Given the description of an element on the screen output the (x, y) to click on. 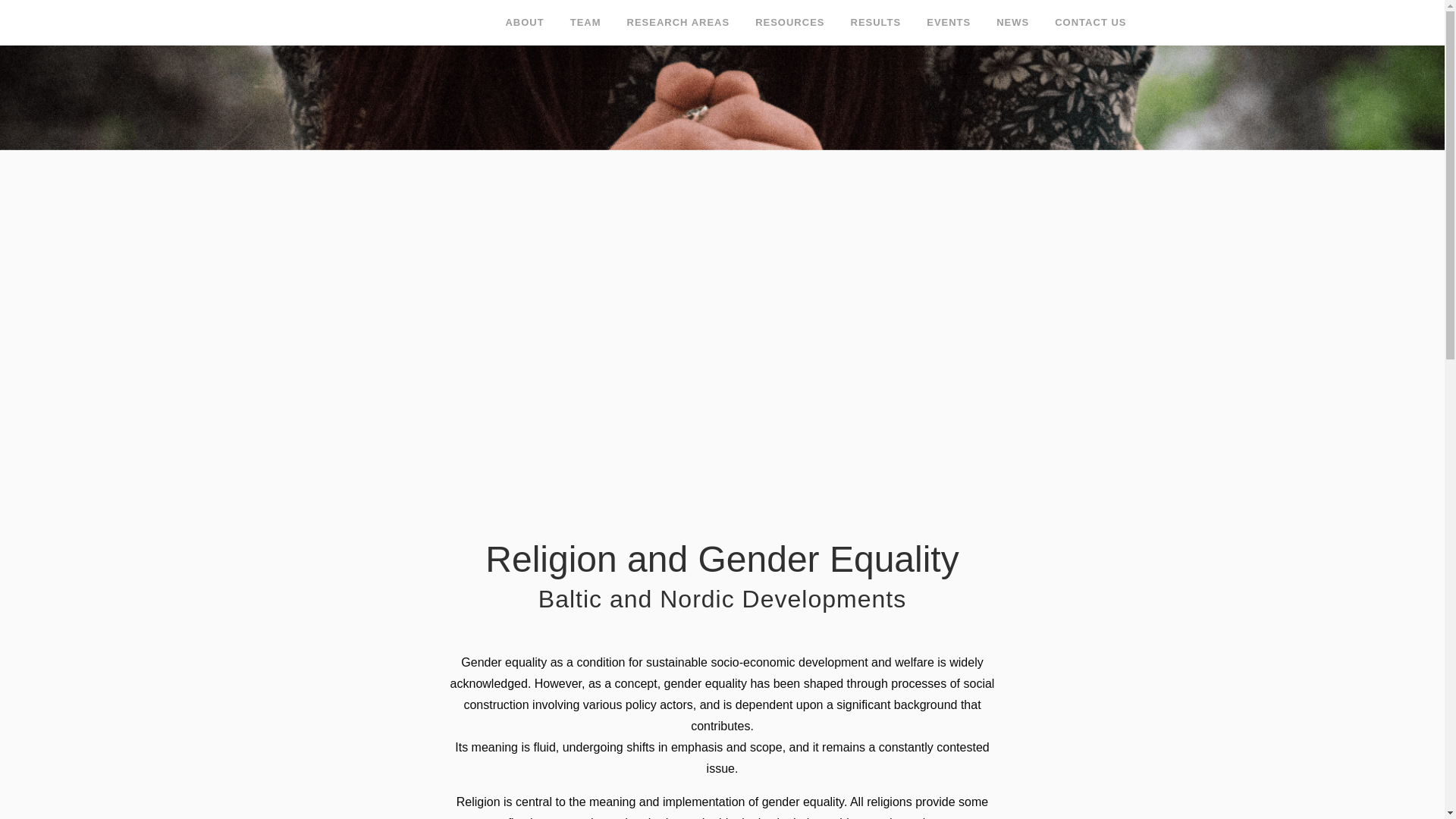
ABOUT (524, 22)
RESULTS (875, 22)
TEAM (585, 22)
RESOURCES (789, 22)
RESEARCH AREAS (678, 22)
CONTACT US (1090, 22)
EVENTS (949, 22)
NEWS (1013, 22)
